Given the description of an element on the screen output the (x, y) to click on. 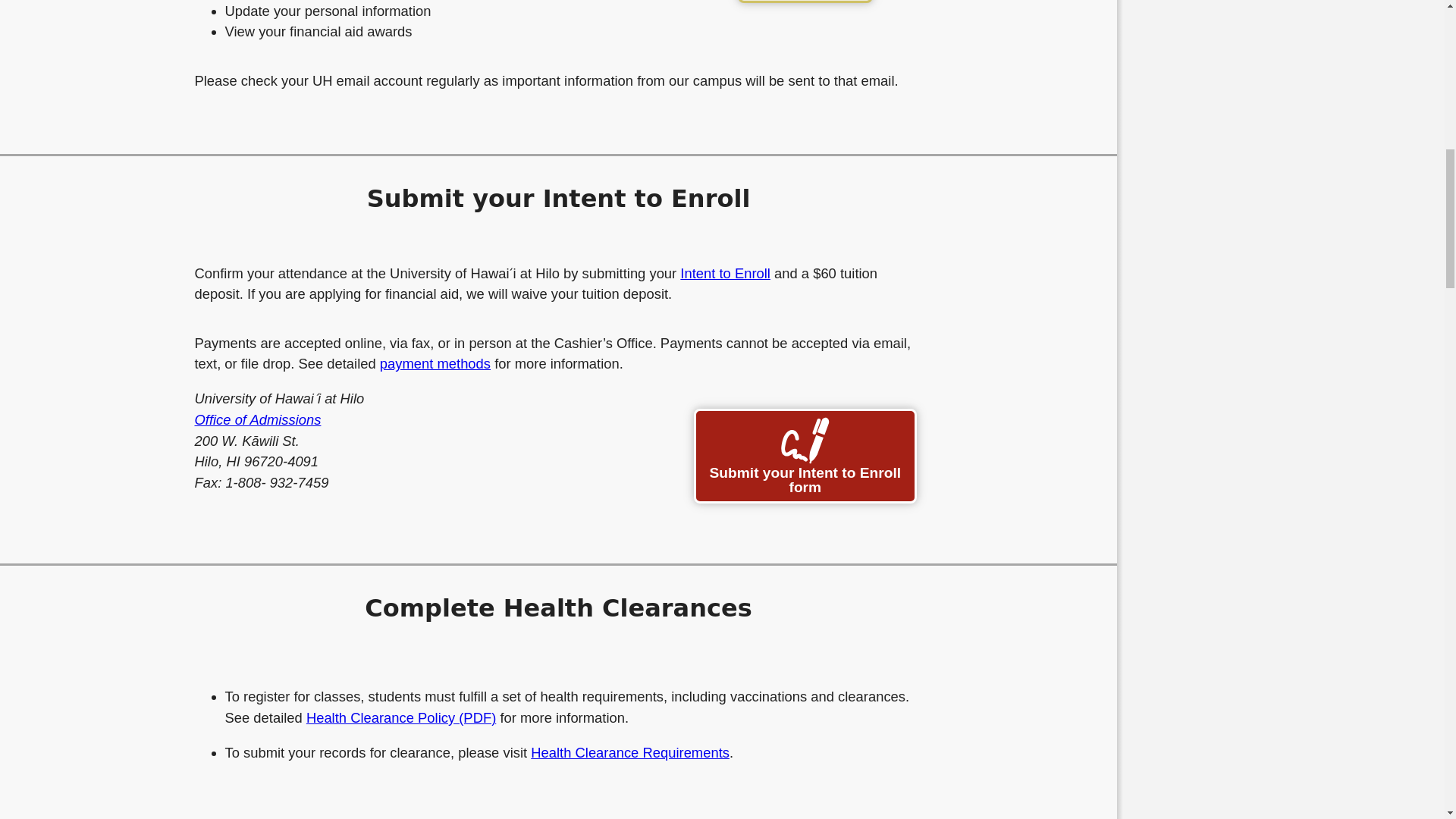
Submit your Intent to Enroll form (804, 455)
payment methods (435, 363)
Activate Account (805, 1)
Office of Admissions (256, 419)
Intent to Enroll (724, 273)
Health Clearance Requirements (630, 752)
